Given the description of an element on the screen output the (x, y) to click on. 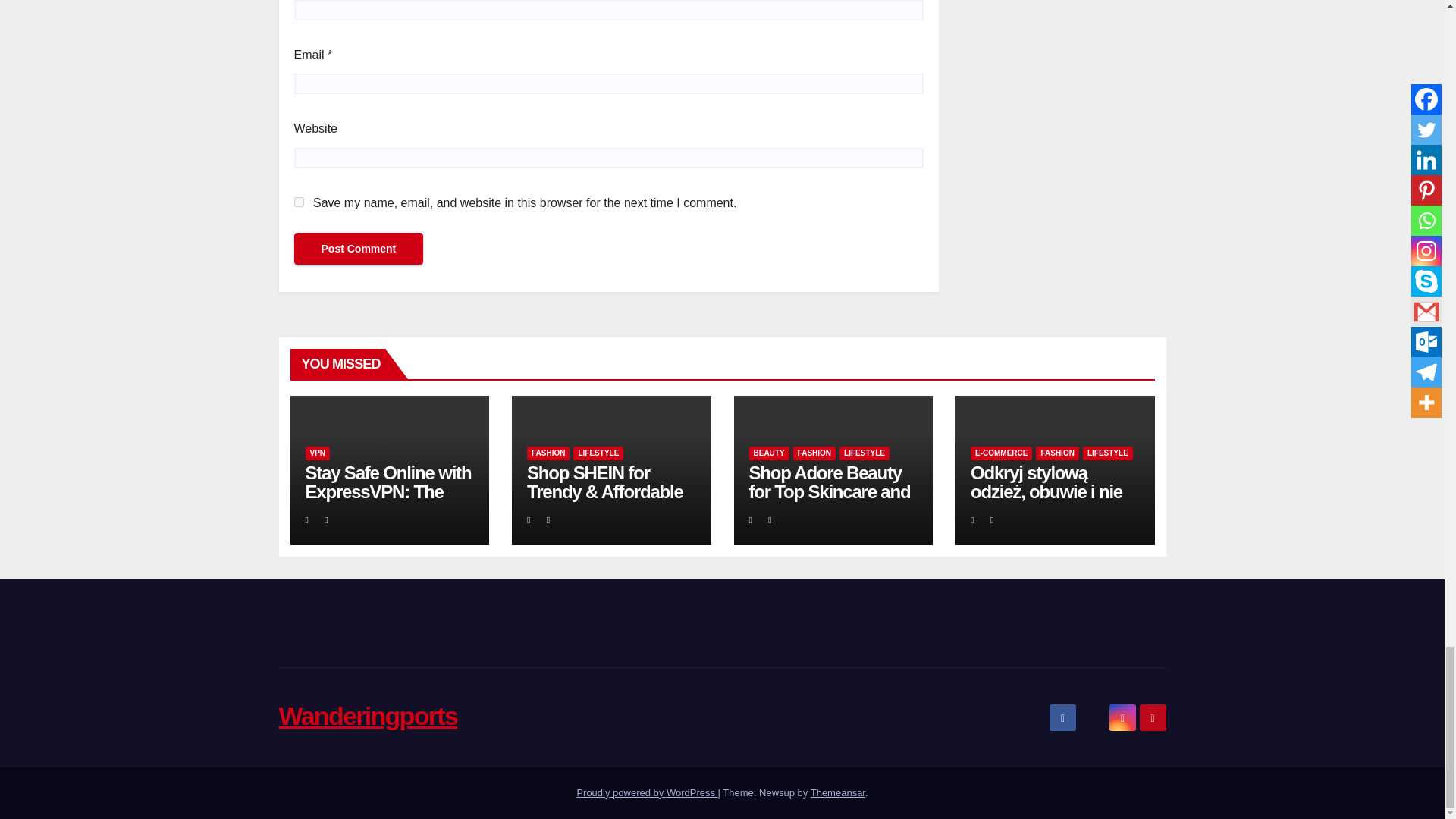
yes (299, 202)
Post Comment (358, 248)
